Given the description of an element on the screen output the (x, y) to click on. 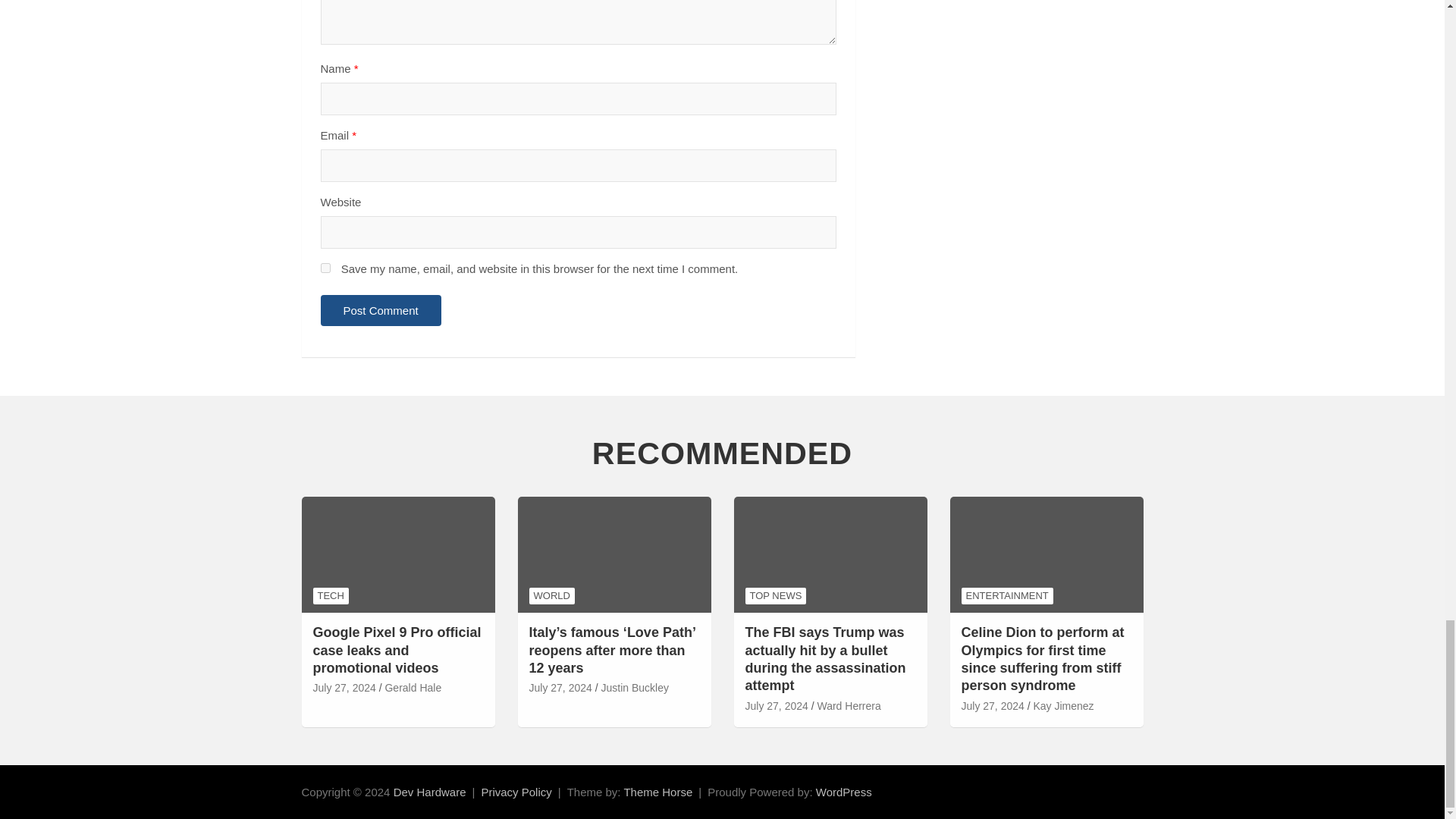
WordPress (843, 791)
Theme Horse (658, 791)
TECH (330, 596)
Post Comment (380, 309)
Dev Hardware (429, 791)
Post Comment (380, 309)
yes (325, 267)
